Given the description of an element on the screen output the (x, y) to click on. 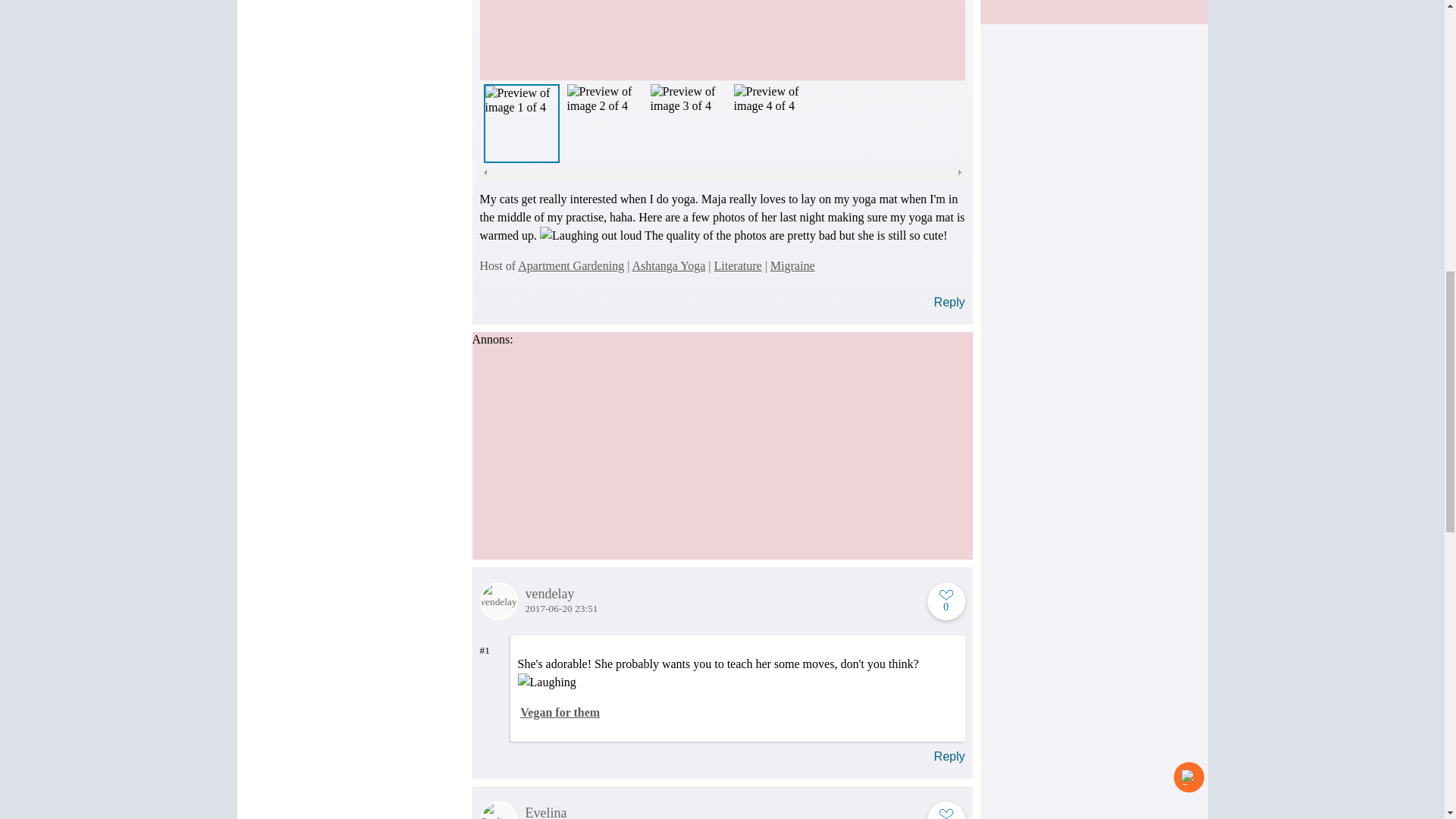
vendelay (721, 594)
Vegan for them (559, 712)
Ashtanga Yoga (667, 265)
Image 1. Click to open in original size. (721, 40)
Migraine (792, 265)
Reply (949, 301)
Evelina (721, 812)
Apartment Gardening (571, 265)
Laughing out loud (591, 235)
Laughing (545, 682)
Literature (737, 265)
Reply (949, 756)
